Given the description of an element on the screen output the (x, y) to click on. 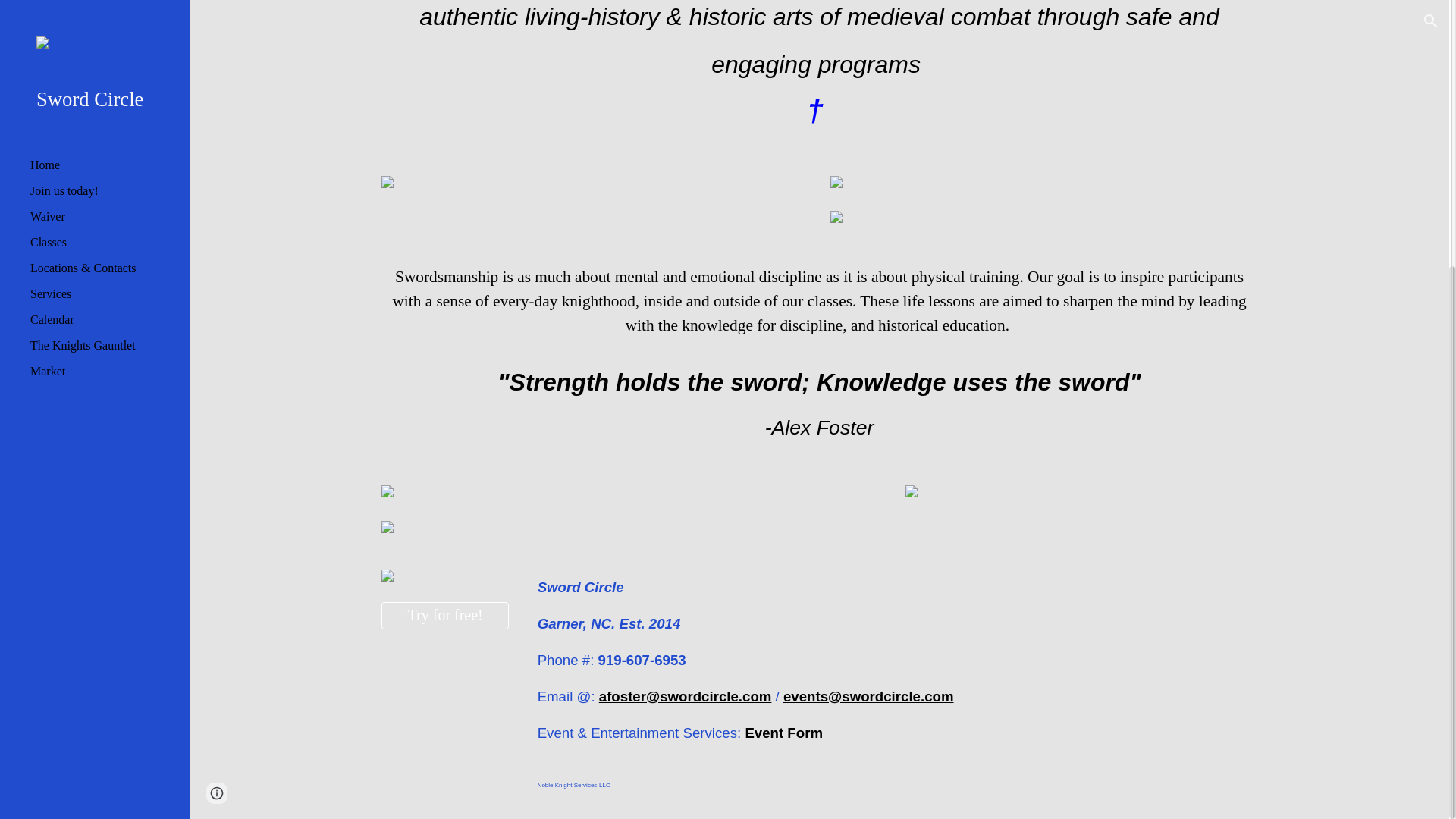
Event Form (783, 731)
Try for free! (444, 615)
